Given the description of an element on the screen output the (x, y) to click on. 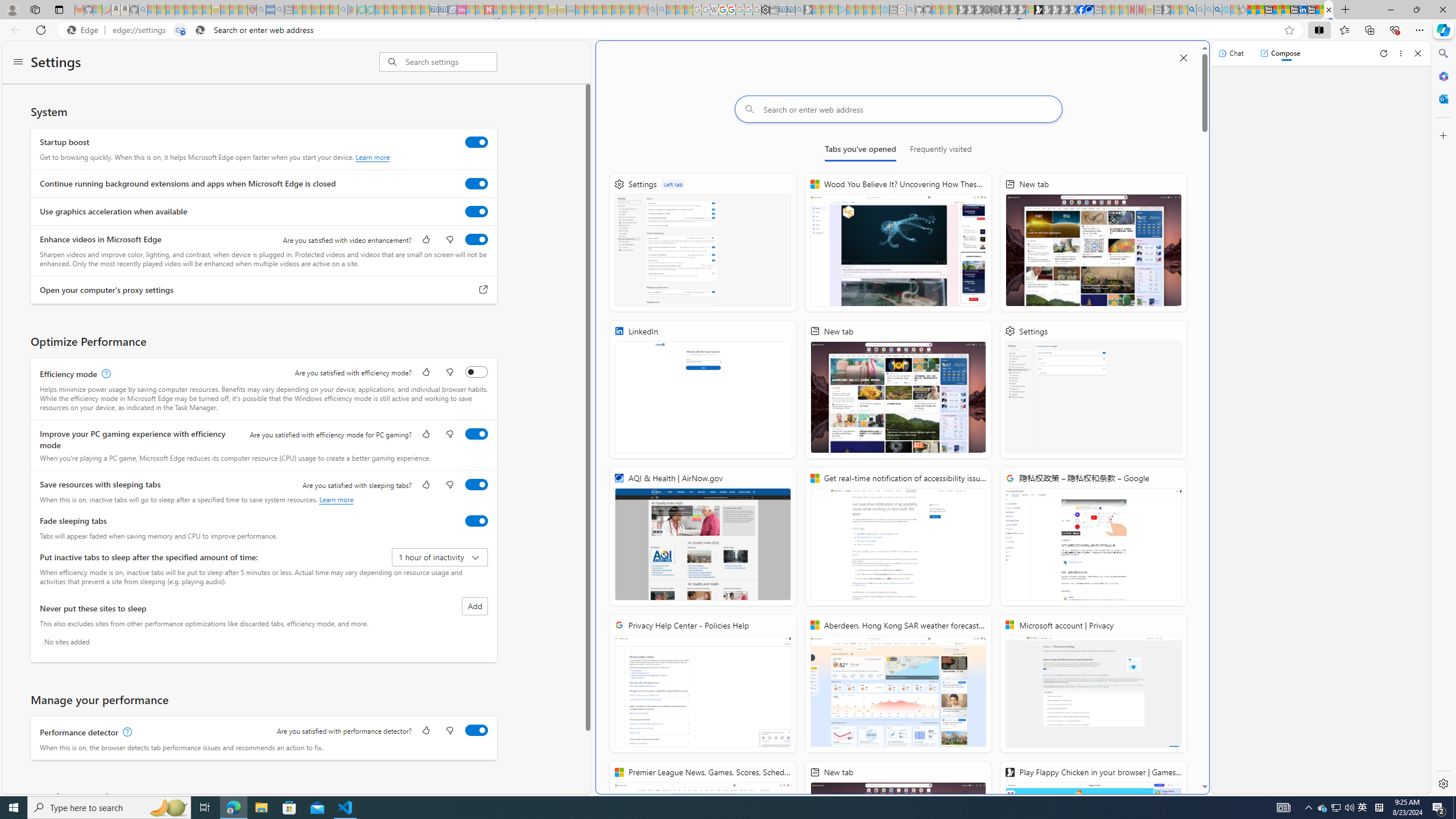
Nordace | Facebook (1080, 9)
Add site to never put these sites to sleep list (474, 606)
Search settings (451, 61)
Future Focus Report 2024 - Sleeping (995, 9)
Tabs you've opened (860, 151)
